Given the description of an element on the screen output the (x, y) to click on. 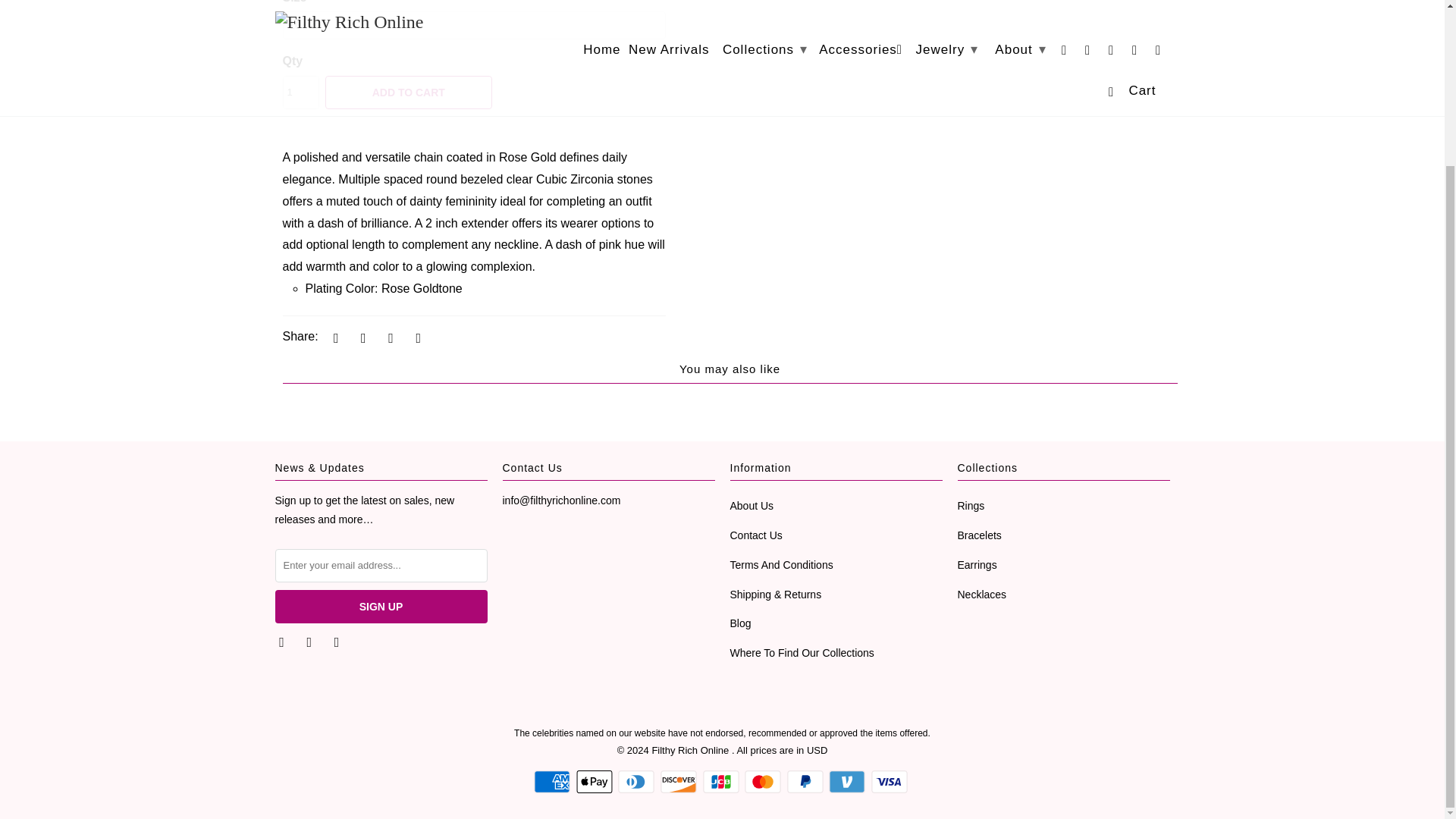
Apple Pay (595, 781)
Discover (680, 781)
1 (300, 92)
Diners Club (637, 781)
Mastercard (764, 781)
Share this on Facebook (360, 337)
JCB (721, 781)
Email this to a friend (416, 337)
PayPal (807, 781)
Filthy Rich Online  on Twitter (283, 641)
Sign Up (380, 606)
American Express (553, 781)
Share this on Twitter (333, 337)
Visa (890, 781)
Filthy Rich Online  on Instagram (338, 641)
